Given the description of an element on the screen output the (x, y) to click on. 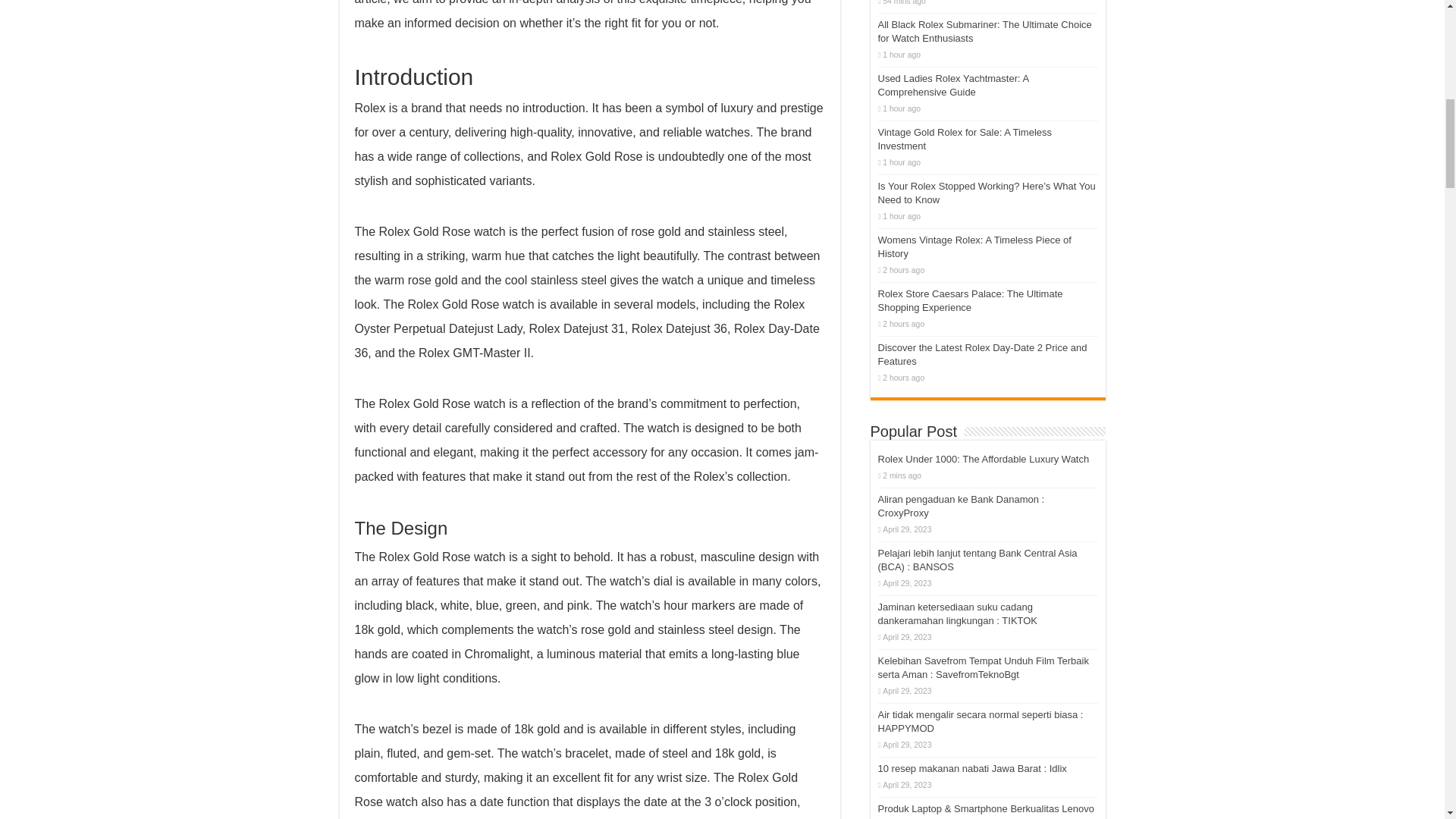
Rolex Under 1000: The Affordable Luxury Watch (983, 459)
Womens Vintage Rolex: A Timeless Piece of History (974, 246)
Rolex Store Caesars Palace: The Ultimate Shopping Experience (969, 300)
Discover the Latest Rolex Day-Date 2 Price and Features (982, 354)
10 resep makanan nabati Jawa Barat : Idlix (972, 767)
Used Ladies Rolex Yachtmaster: A Comprehensive Guide (953, 84)
Air tidak mengalir secara normal seperti biasa : HAPPYMOD (980, 721)
